Given the description of an element on the screen output the (x, y) to click on. 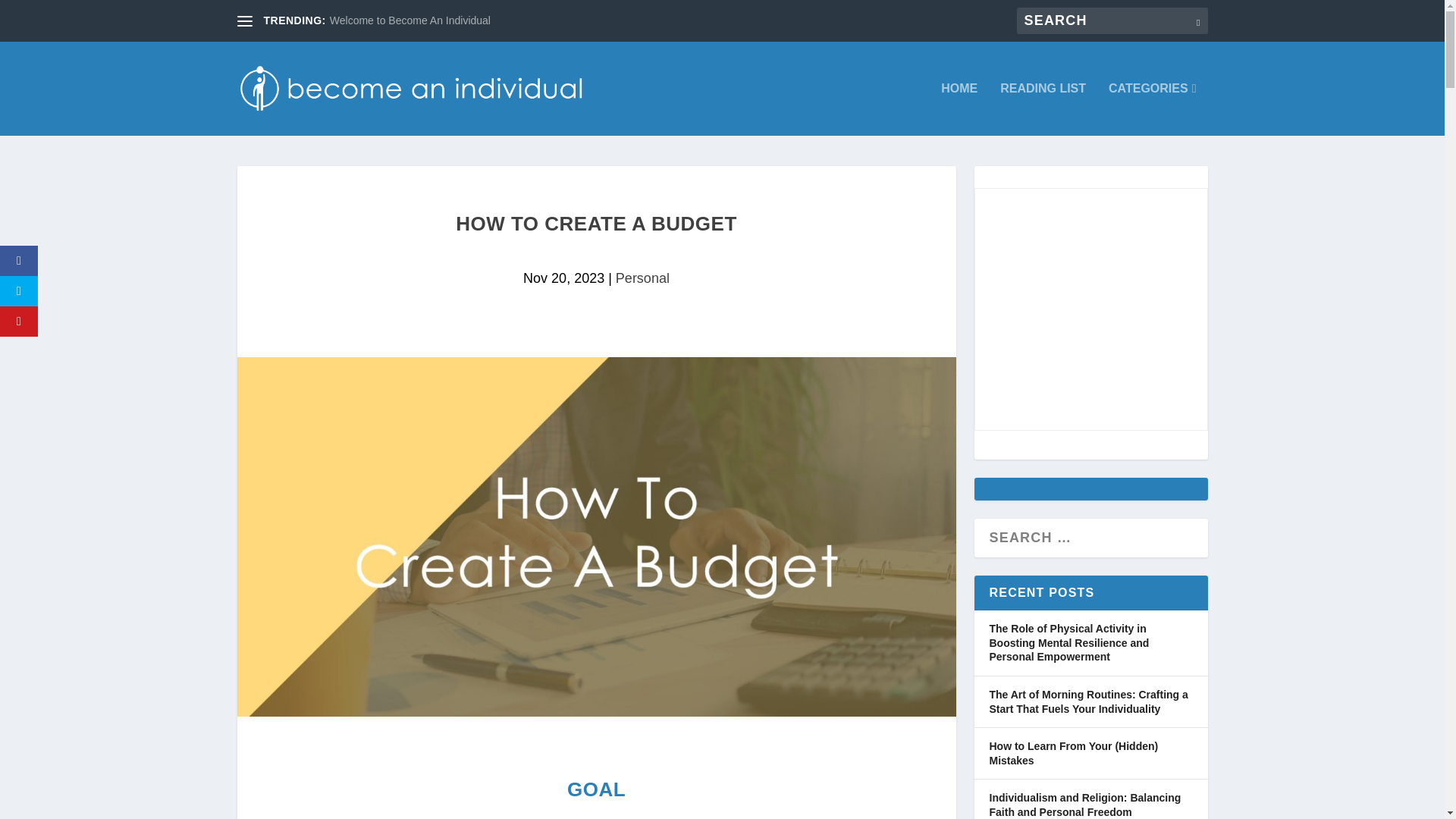
Personal (642, 278)
Welcome to Become An Individual (410, 20)
READING LIST (1043, 108)
CATEGORIES (1151, 108)
Search for: (1111, 20)
